Given the description of an element on the screen output the (x, y) to click on. 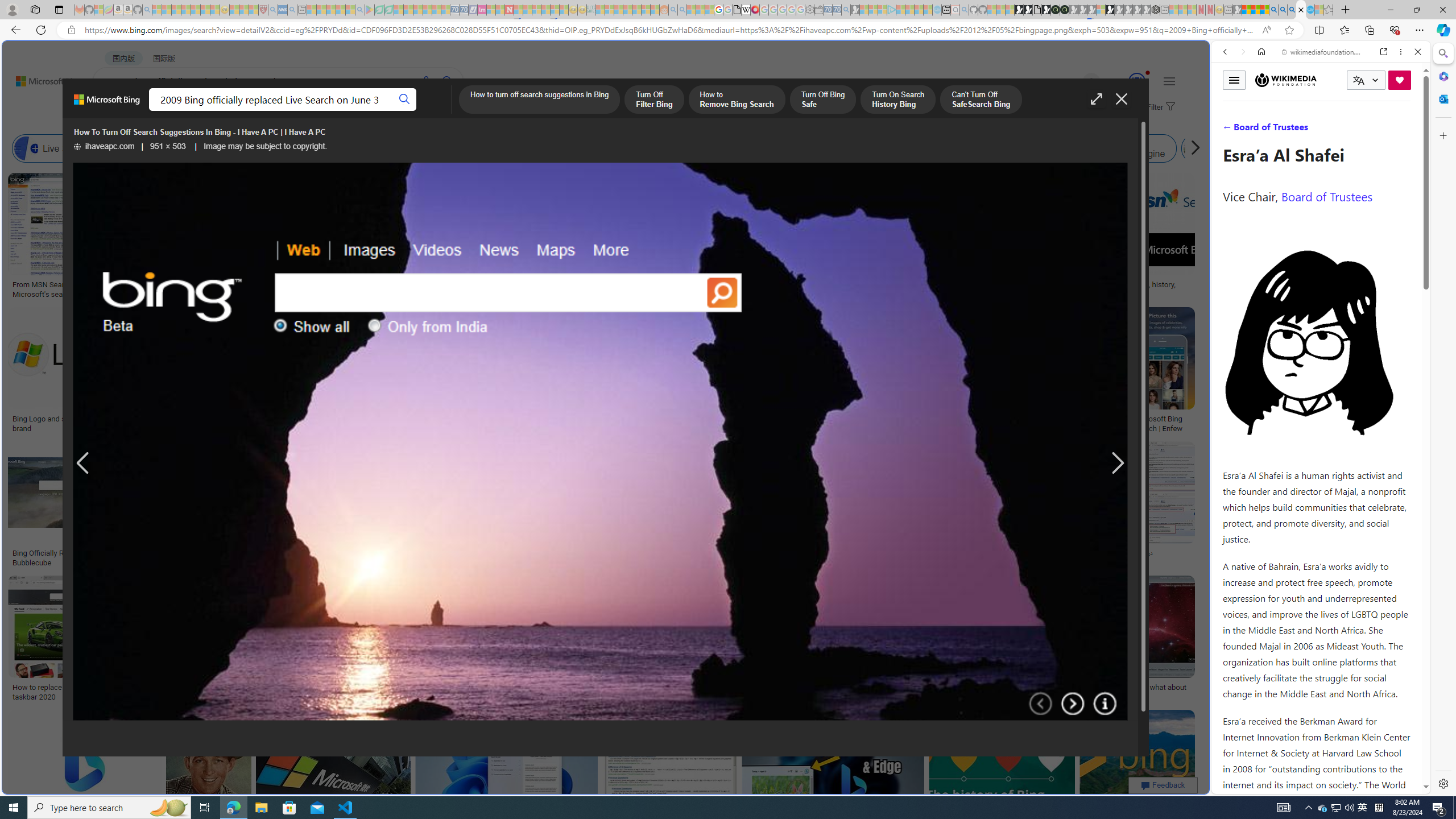
Microsoft Live LogoSave (421, 237)
Full screen (1096, 99)
Bing Voice Search (121, 148)
Wikimedia Foundation (1286, 79)
AutomationID: rh_meter (1136, 80)
